Given the description of an element on the screen output the (x, y) to click on. 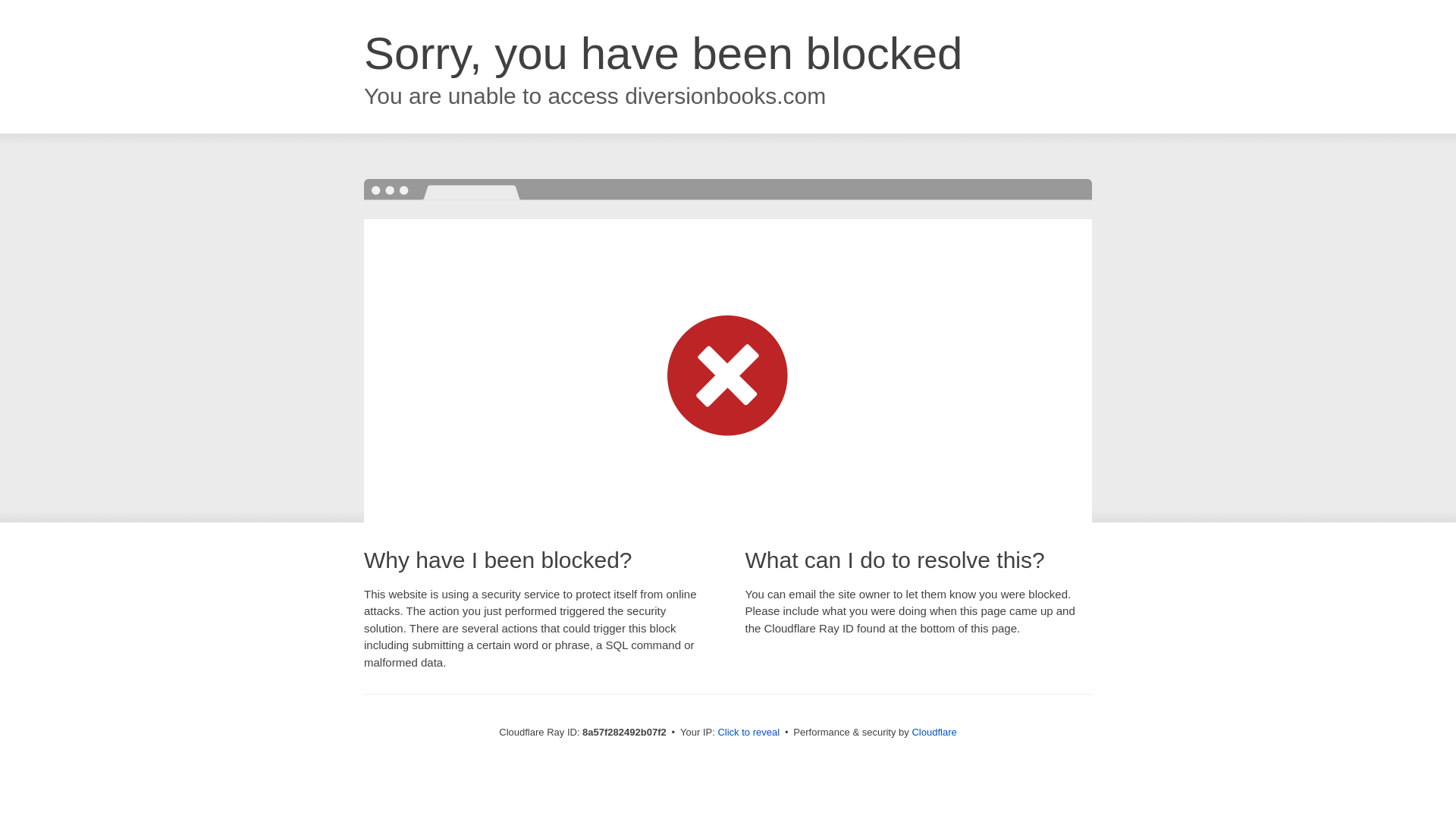
Cloudflare (933, 731)
Click to reveal (747, 732)
